Given the description of an element on the screen output the (x, y) to click on. 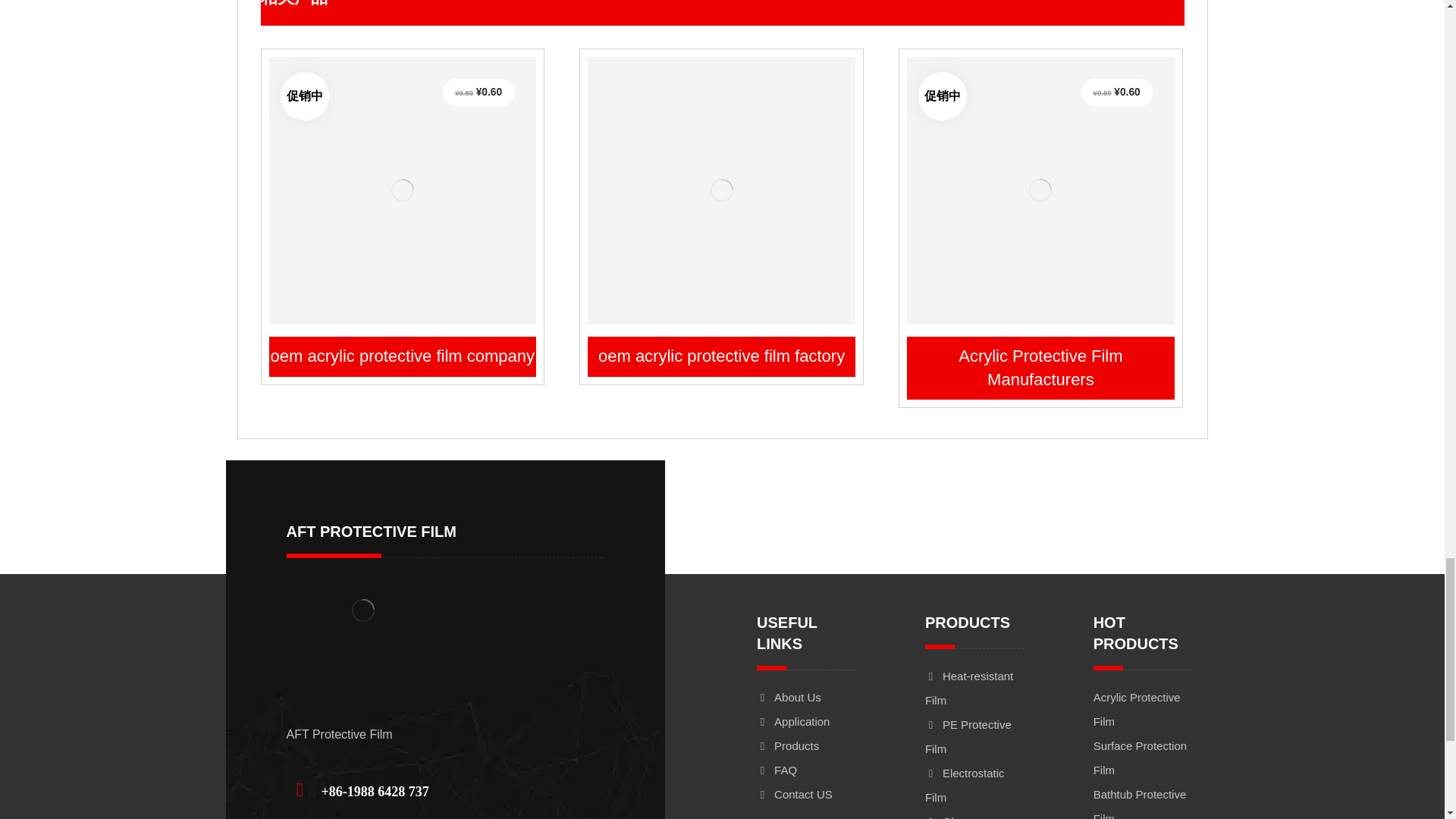
oem acrylic protective film manufacturers - AFT Film (1040, 190)
oem acrylic protective film factory - AFT Film (722, 190)
oem acrylic protective film companyany in usa - AFT Film (401, 190)
